Given the description of an element on the screen output the (x, y) to click on. 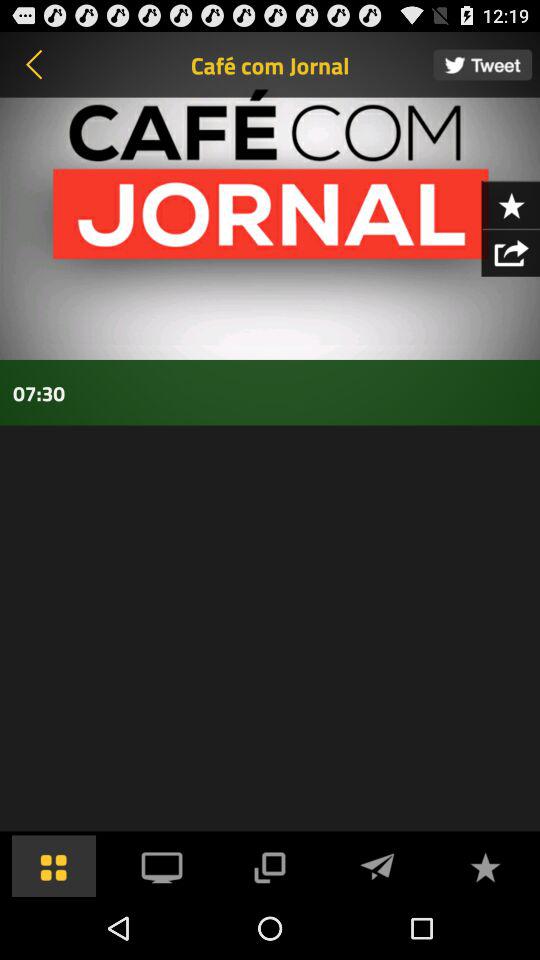
mark as favourite (485, 865)
